Given the description of an element on the screen output the (x, y) to click on. 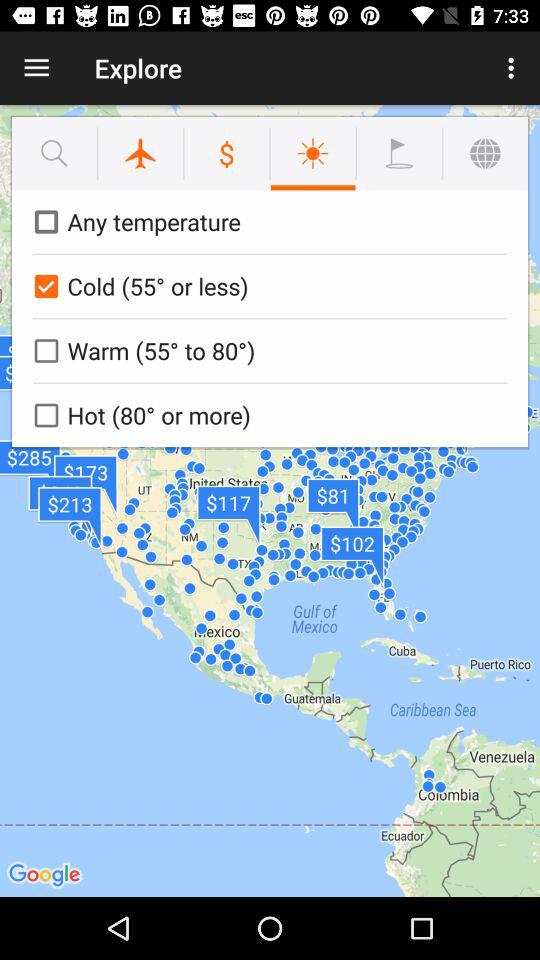
launch icon next to explore icon (36, 68)
